Given the description of an element on the screen output the (x, y) to click on. 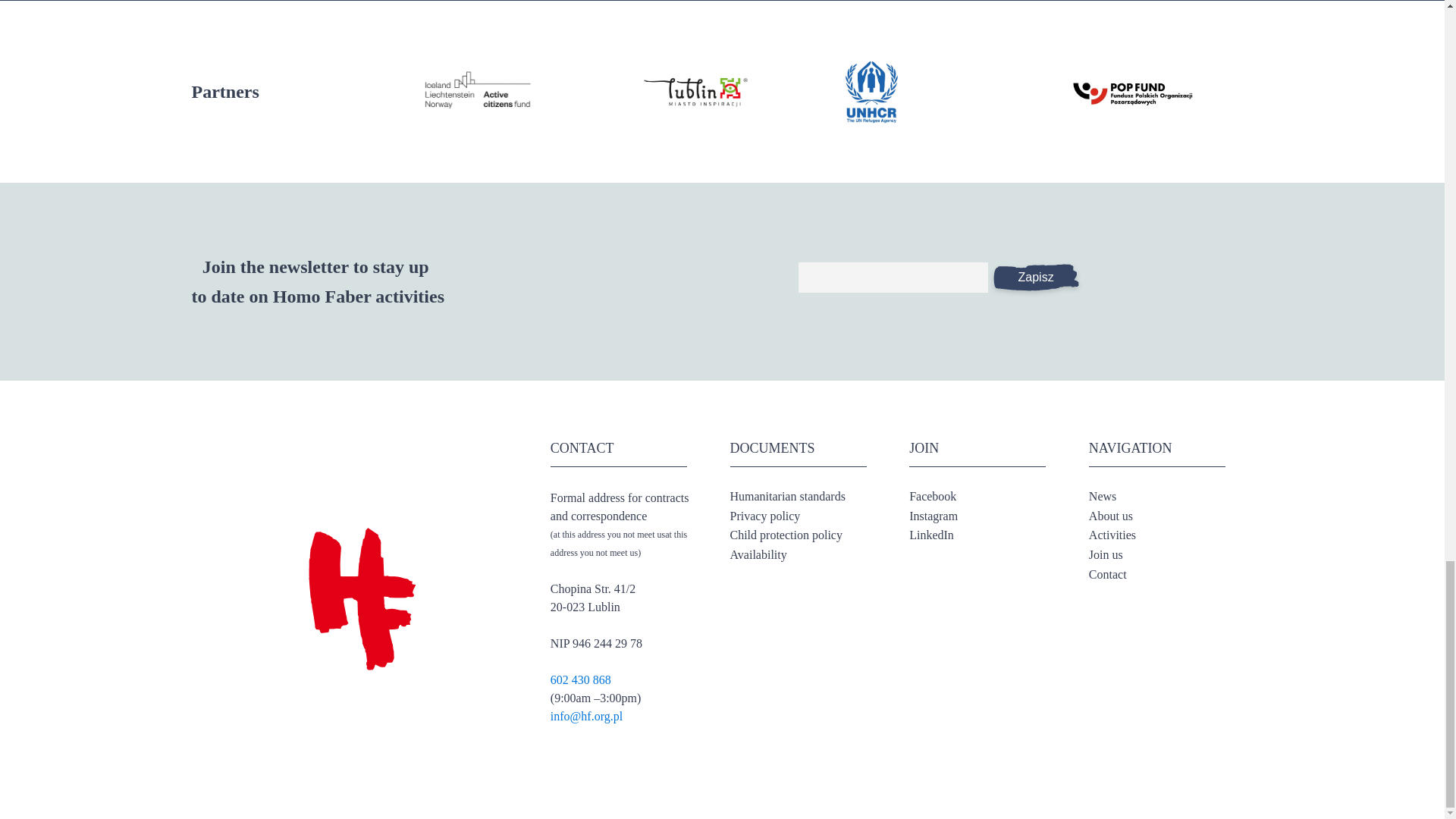
Zapisz (1035, 277)
